Given the description of an element on the screen output the (x, y) to click on. 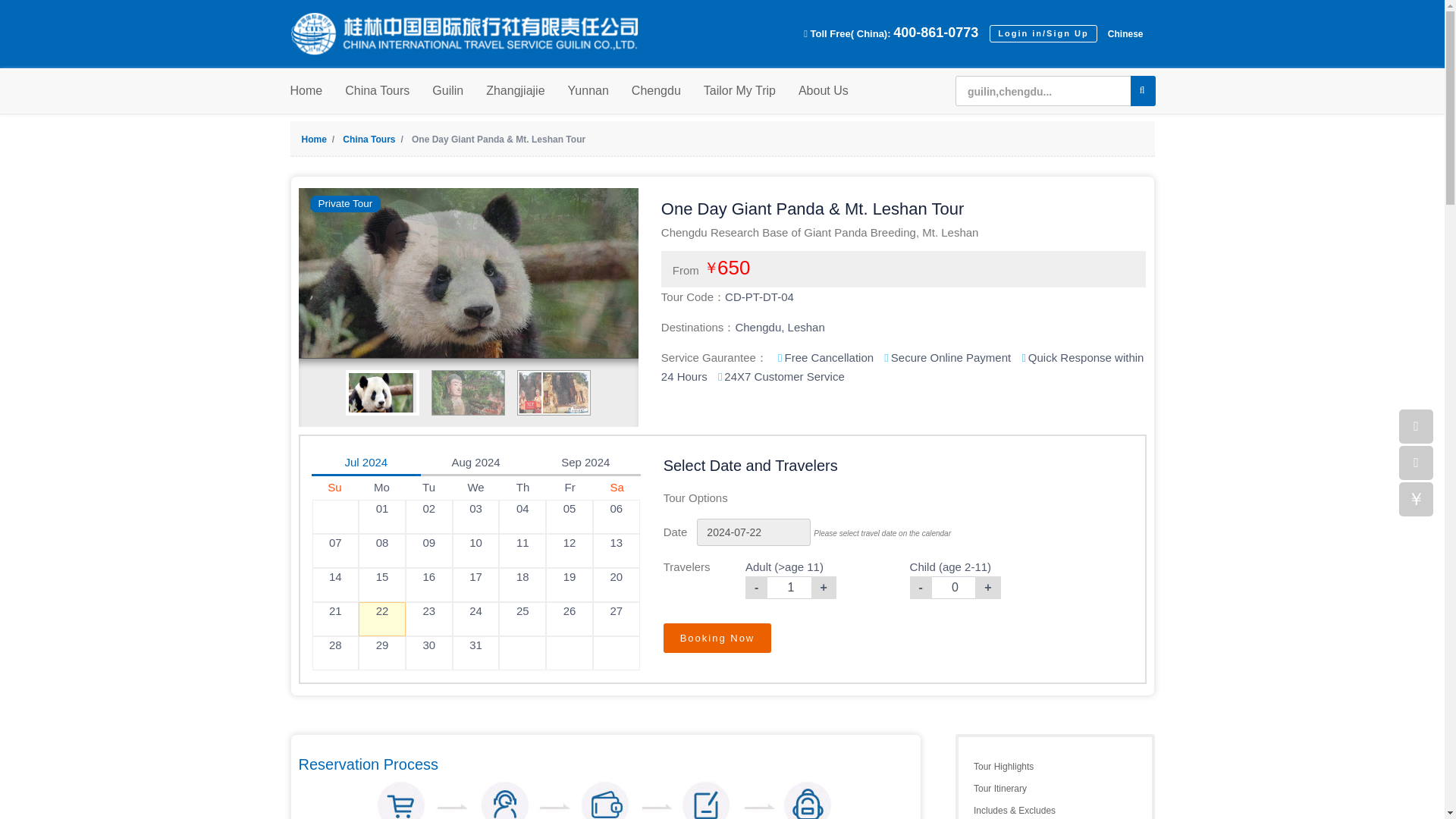
2024-07-22 (753, 532)
Booking Now (717, 637)
Chinese (1121, 33)
China Tours (374, 139)
Chengdu (656, 90)
Home (320, 139)
Zhangjiajie (515, 90)
Tailor My Trip (739, 90)
About Us (822, 90)
China Tours (377, 90)
0 (955, 587)
400-861-0773 (935, 31)
1 (790, 587)
Yunnan (587, 90)
